Given the description of an element on the screen output the (x, y) to click on. 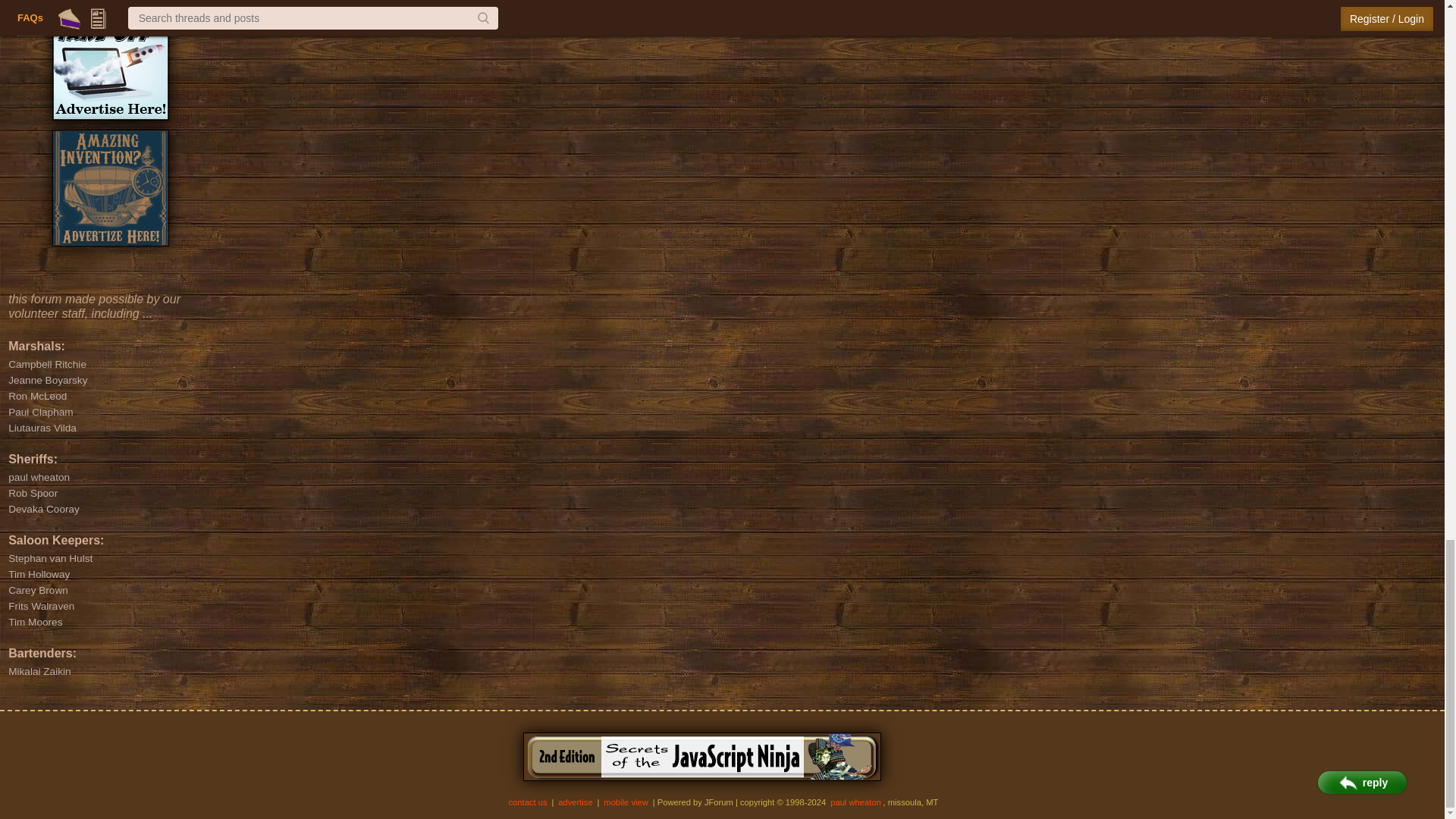
mobile view (626, 801)
